Given the description of an element on the screen output the (x, y) to click on. 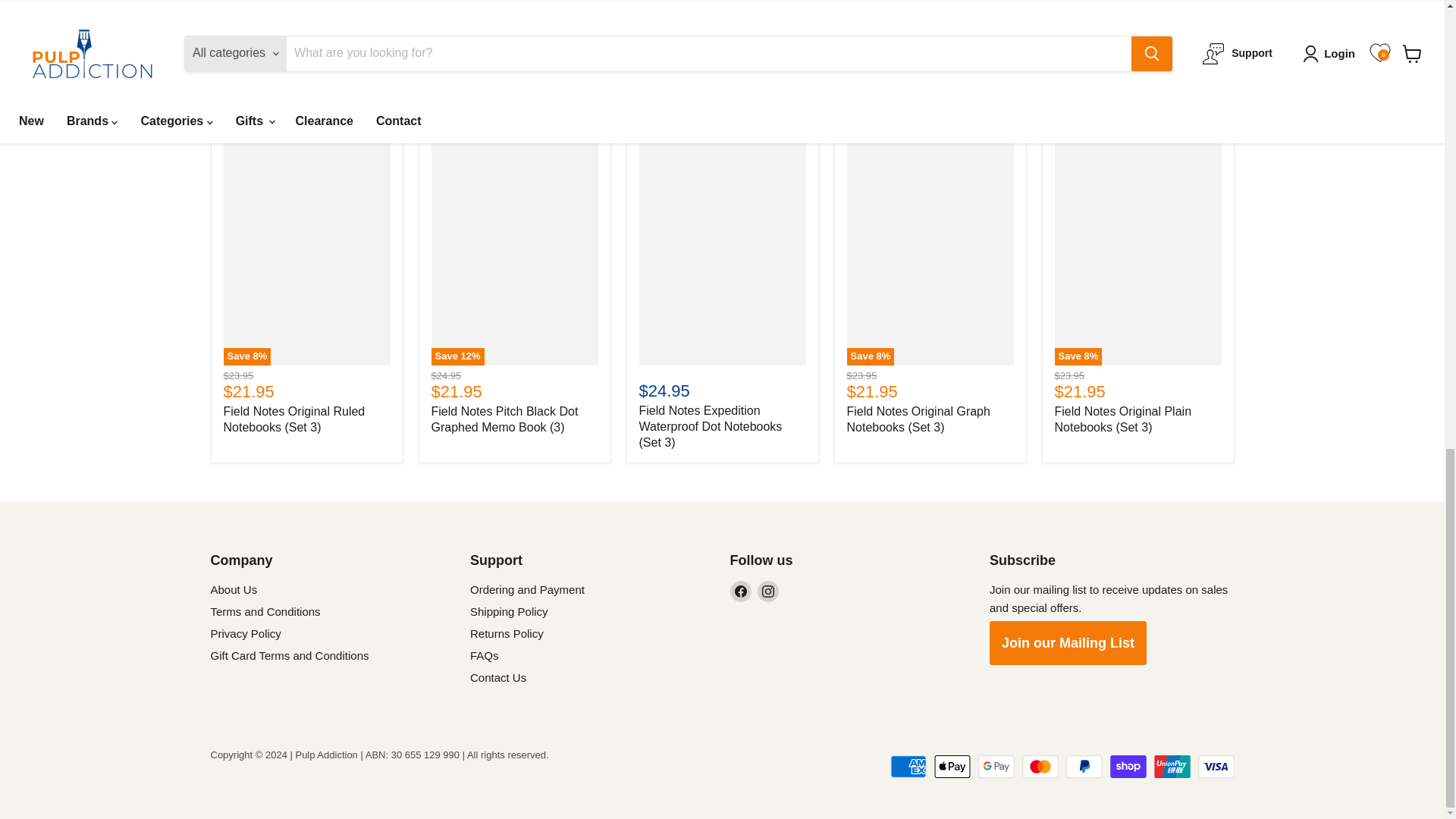
American Express (907, 766)
Facebook (740, 590)
Instagram (767, 590)
